Given the description of an element on the screen output the (x, y) to click on. 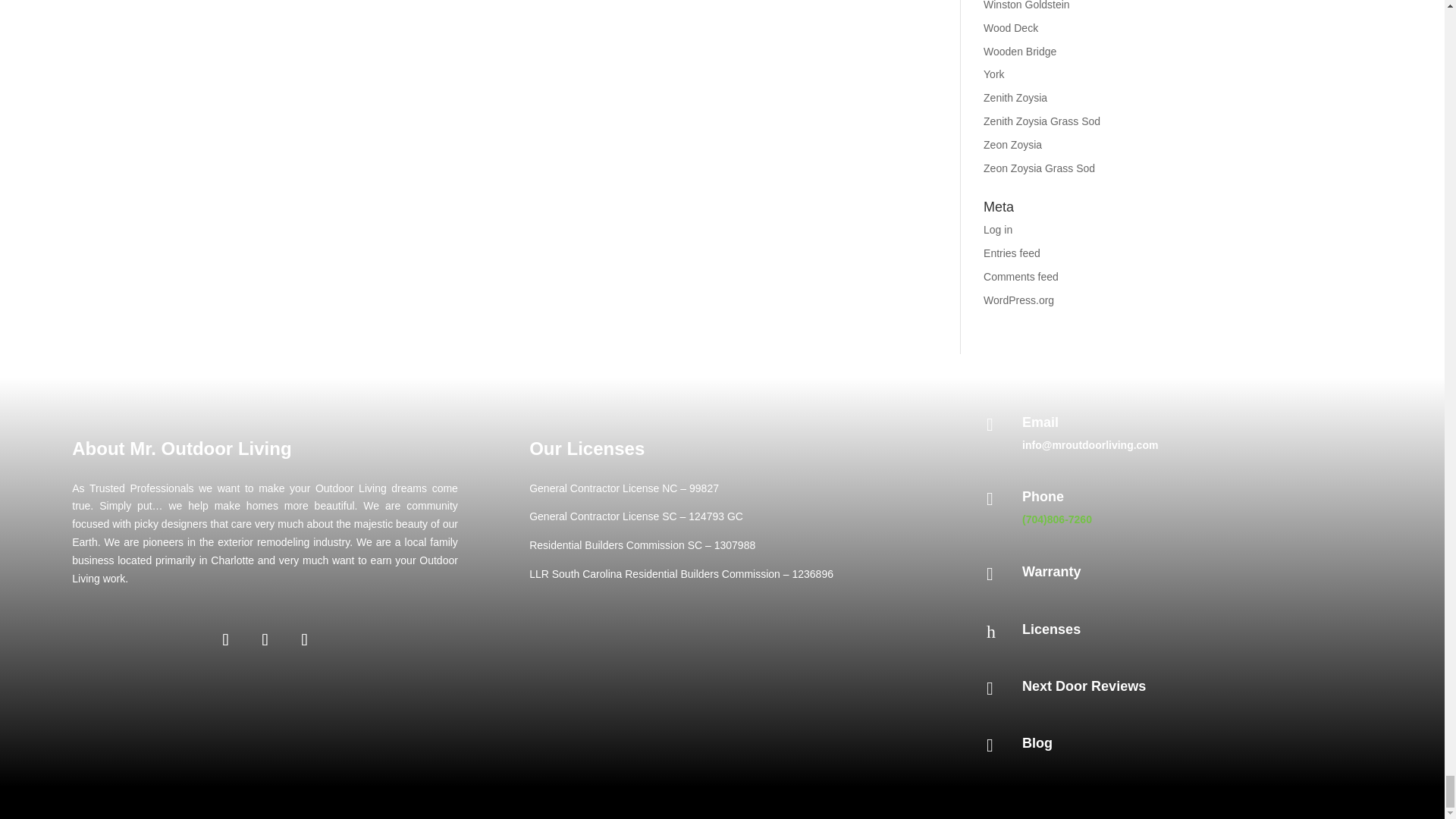
Follow on Instagram (265, 639)
Follow on Youtube (304, 639)
Follow on Facebook (226, 639)
